Given the description of an element on the screen output the (x, y) to click on. 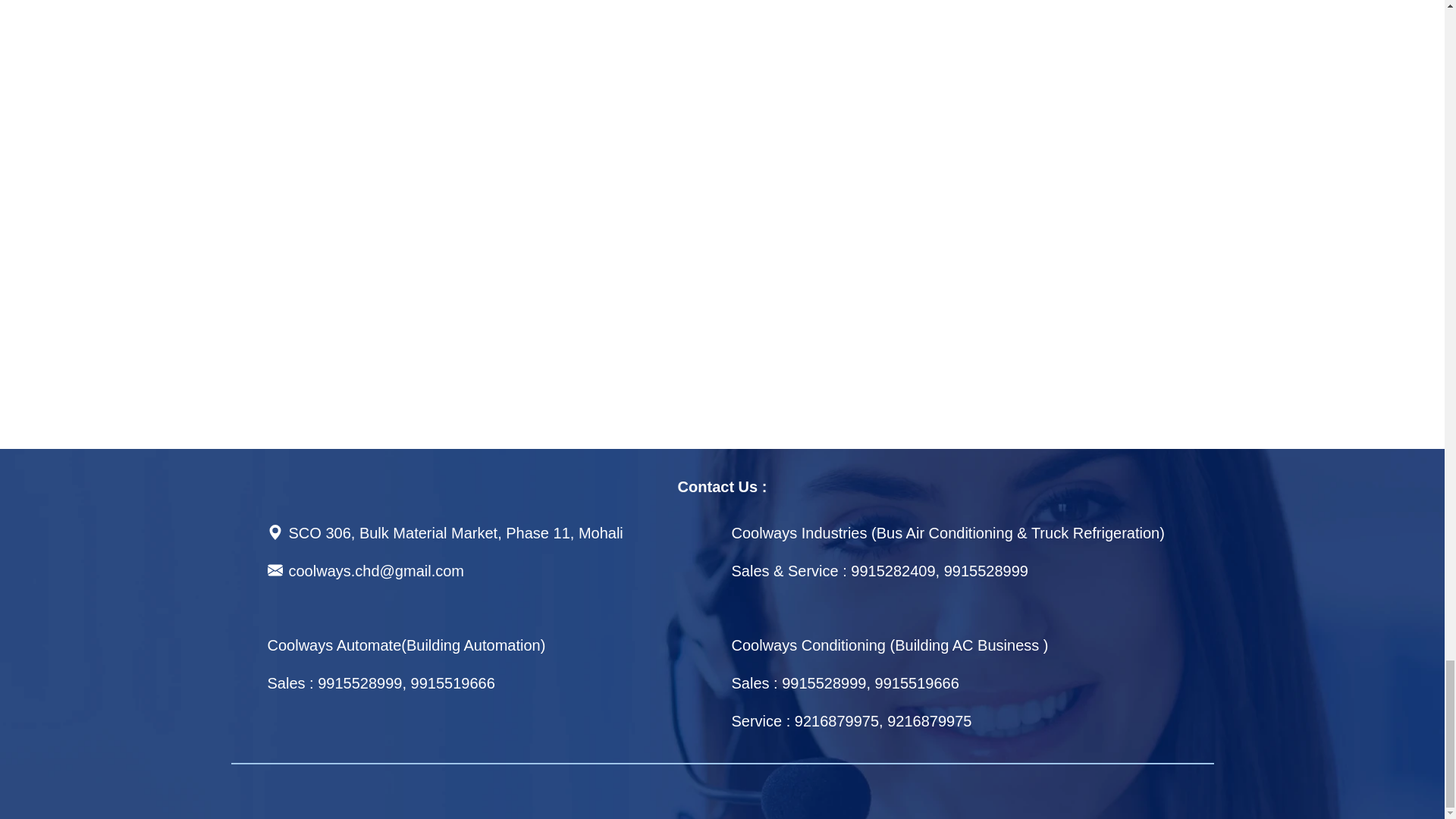
9915528999 (985, 570)
9915528999 (359, 682)
9915519666 (917, 682)
9915519666 (452, 682)
9216879975 (928, 720)
9216879975 (836, 720)
9915528999 (823, 682)
9915282409 (892, 570)
